Given the description of an element on the screen output the (x, y) to click on. 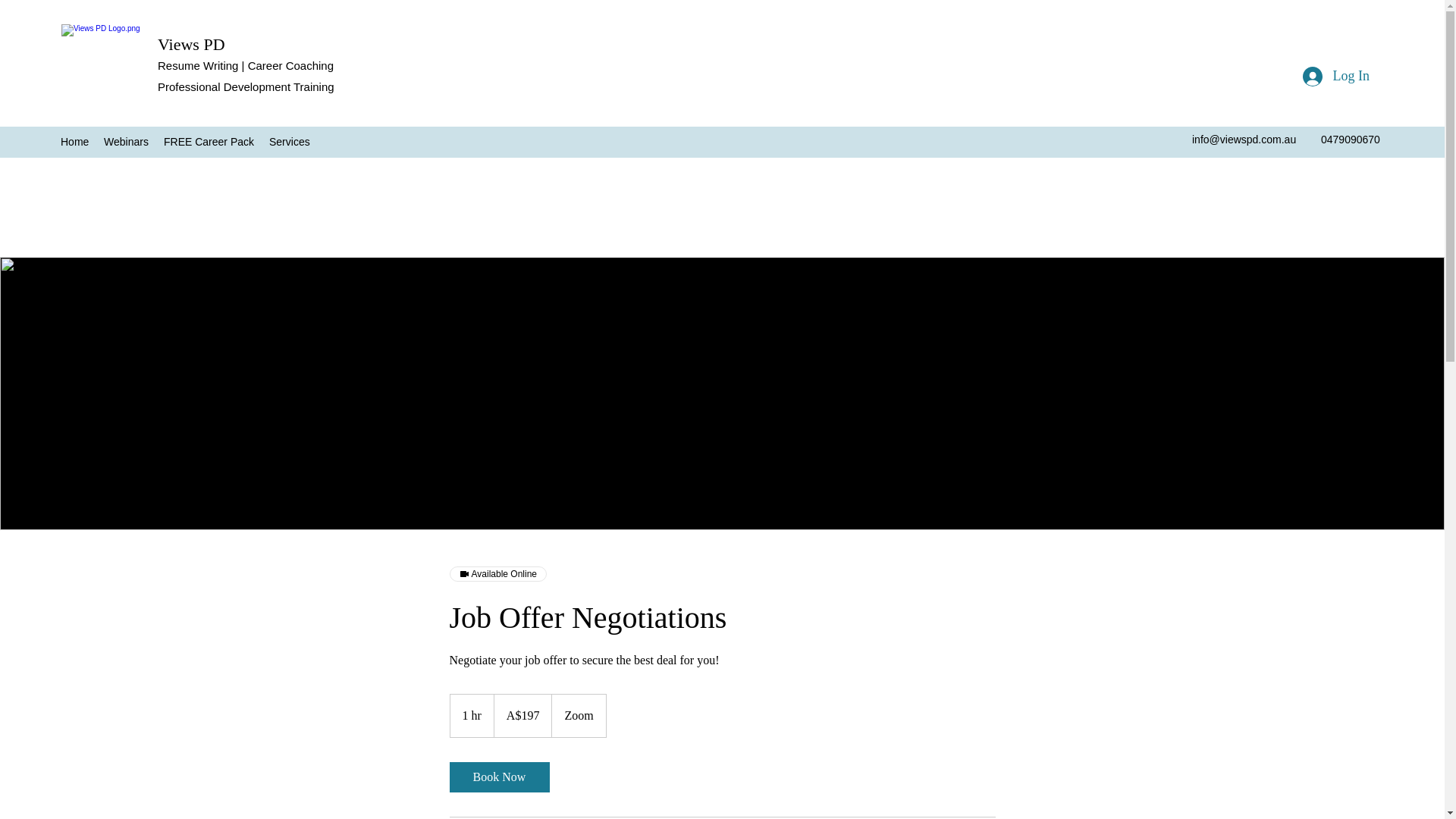
Book Now (498, 777)
Log In (1336, 76)
Webinars (125, 141)
Home (74, 141)
Views PD (191, 44)
FREE Career Pack (208, 141)
Services (289, 141)
